Given the description of an element on the screen output the (x, y) to click on. 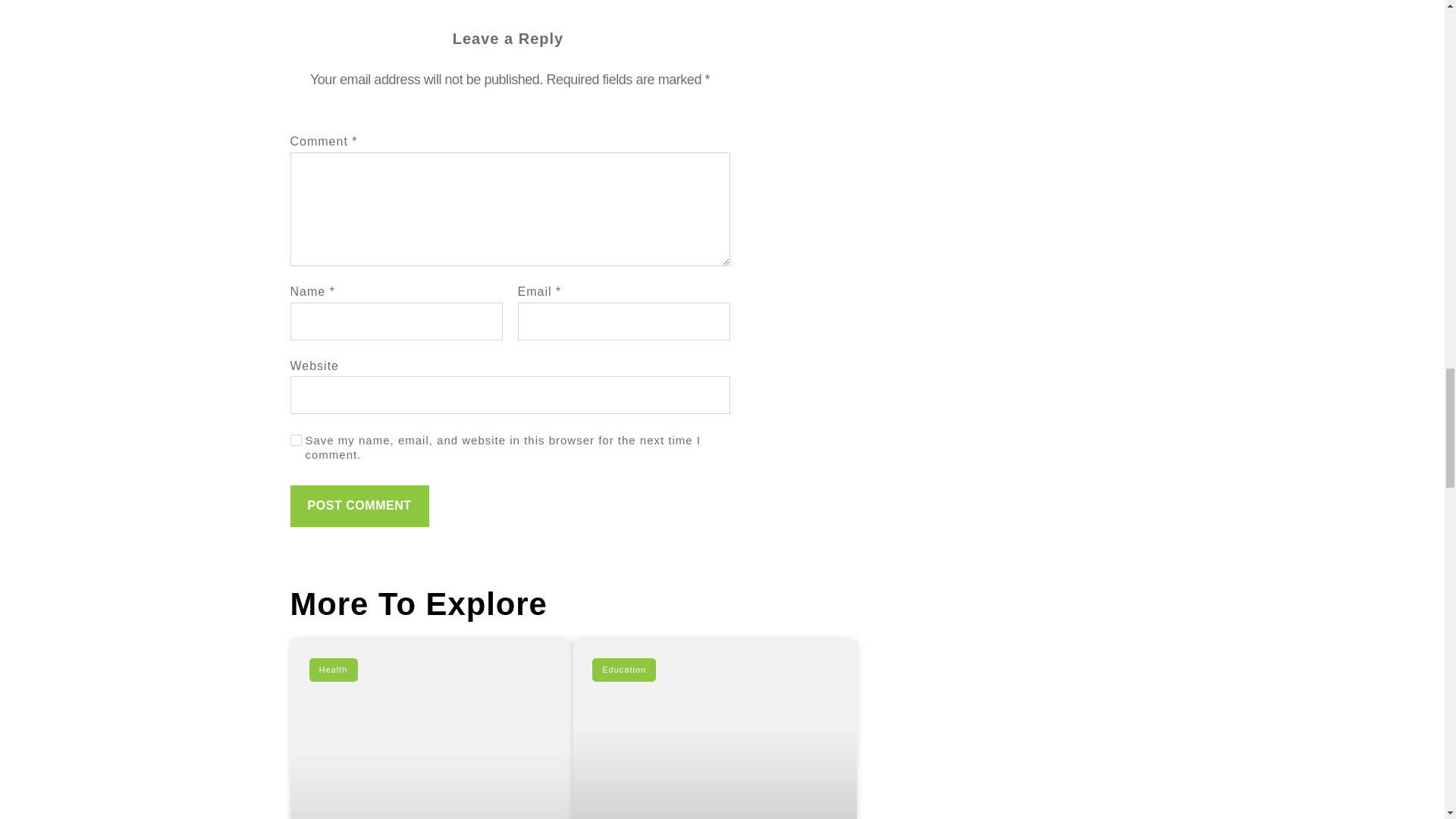
yes (295, 439)
Post Comment (358, 506)
